Given the description of an element on the screen output the (x, y) to click on. 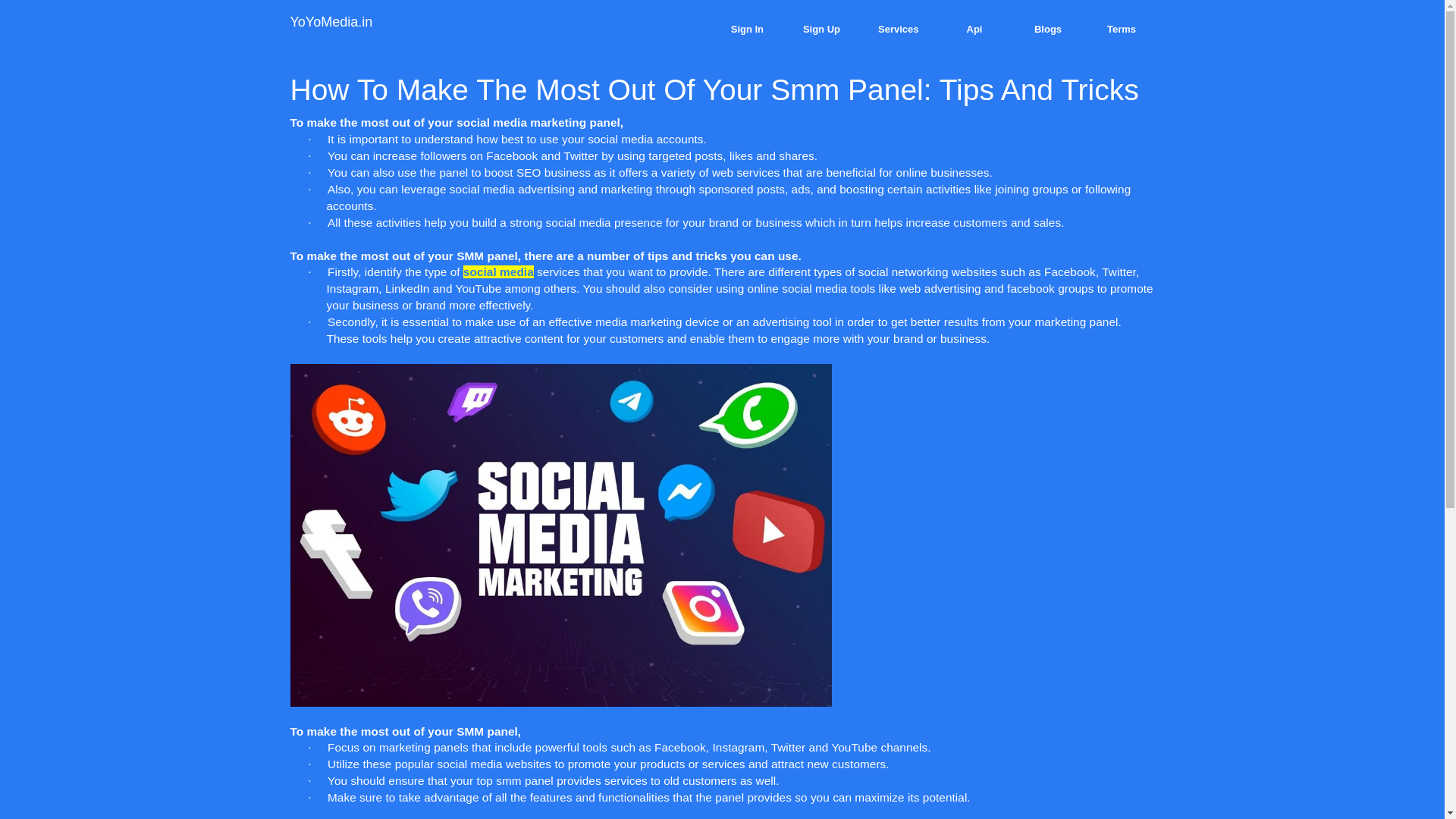
Sign In (747, 29)
Sign Up (821, 29)
social media (498, 271)
YoYoMedia.in (331, 21)
Blogs (1047, 29)
Terms (1121, 29)
Services (898, 29)
Api (974, 29)
